Given the description of an element on the screen output the (x, y) to click on. 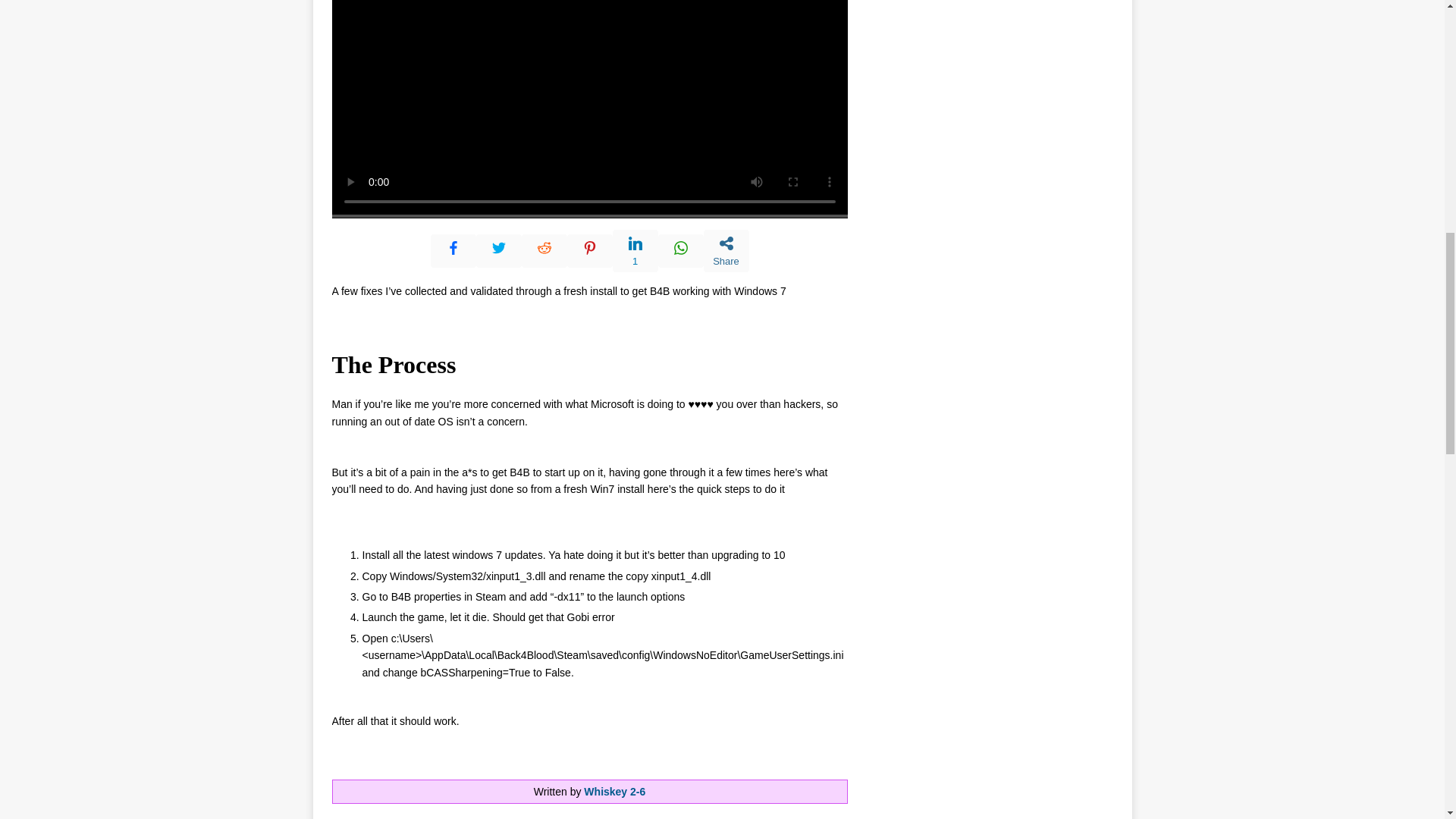
Share on Reddit (544, 250)
Share on Pinterest (589, 250)
Share on LinkedIn (635, 250)
1 (635, 250)
Share on Facebook (453, 250)
Whiskey 2-6 (614, 791)
Share on Twitter (498, 250)
Share on Share (726, 250)
Share on WhatsApp (680, 250)
Share (726, 250)
